Given the description of an element on the screen output the (x, y) to click on. 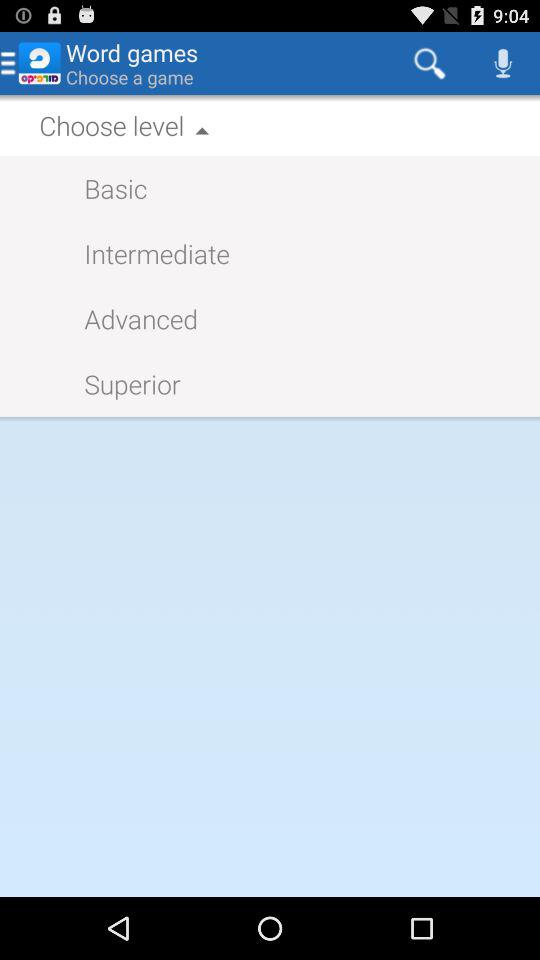
choose advanced app (131, 318)
